Given the description of an element on the screen output the (x, y) to click on. 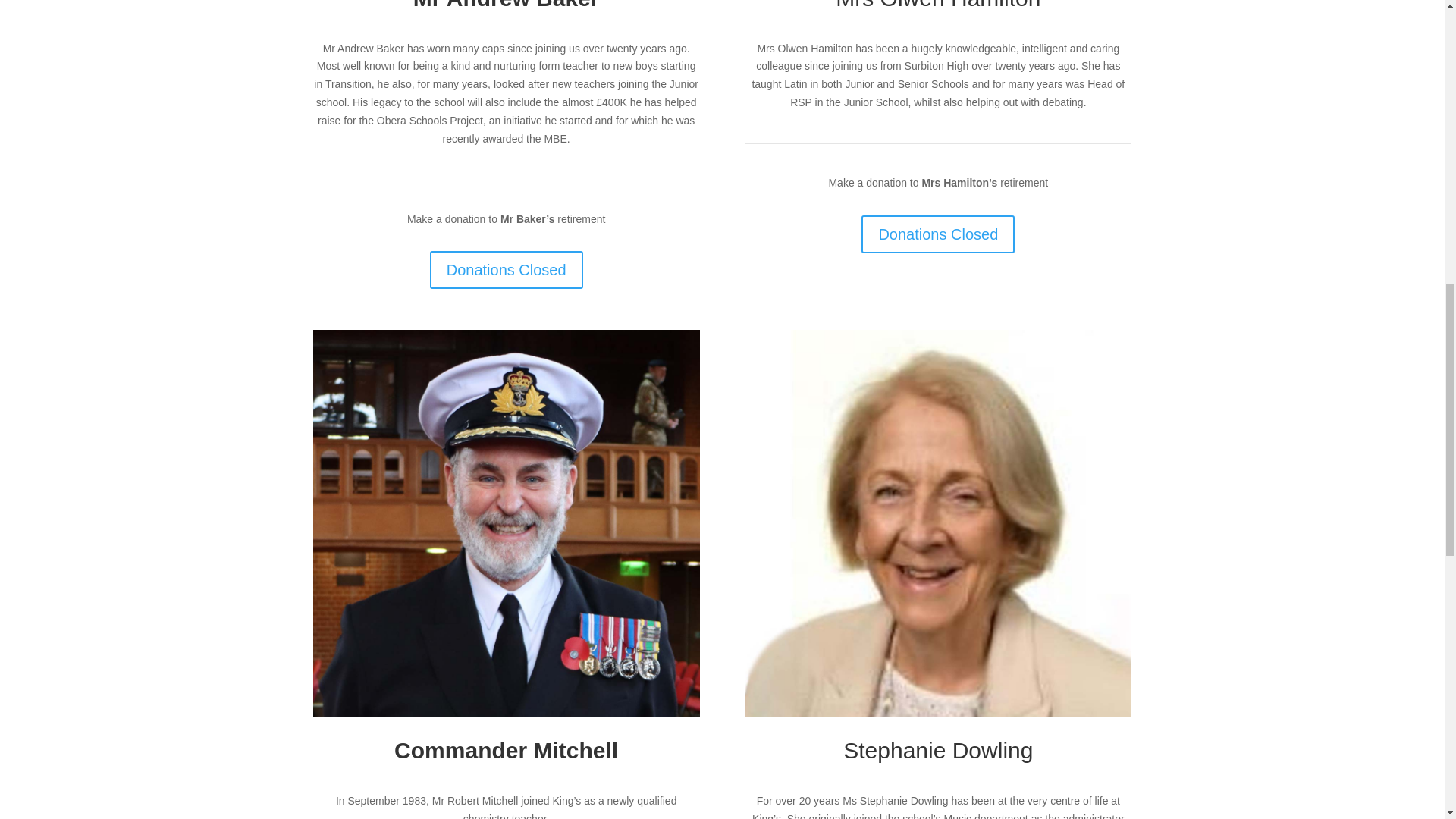
Donations Closed (506, 269)
Donations Closed (937, 234)
